Given the description of an element on the screen output the (x, y) to click on. 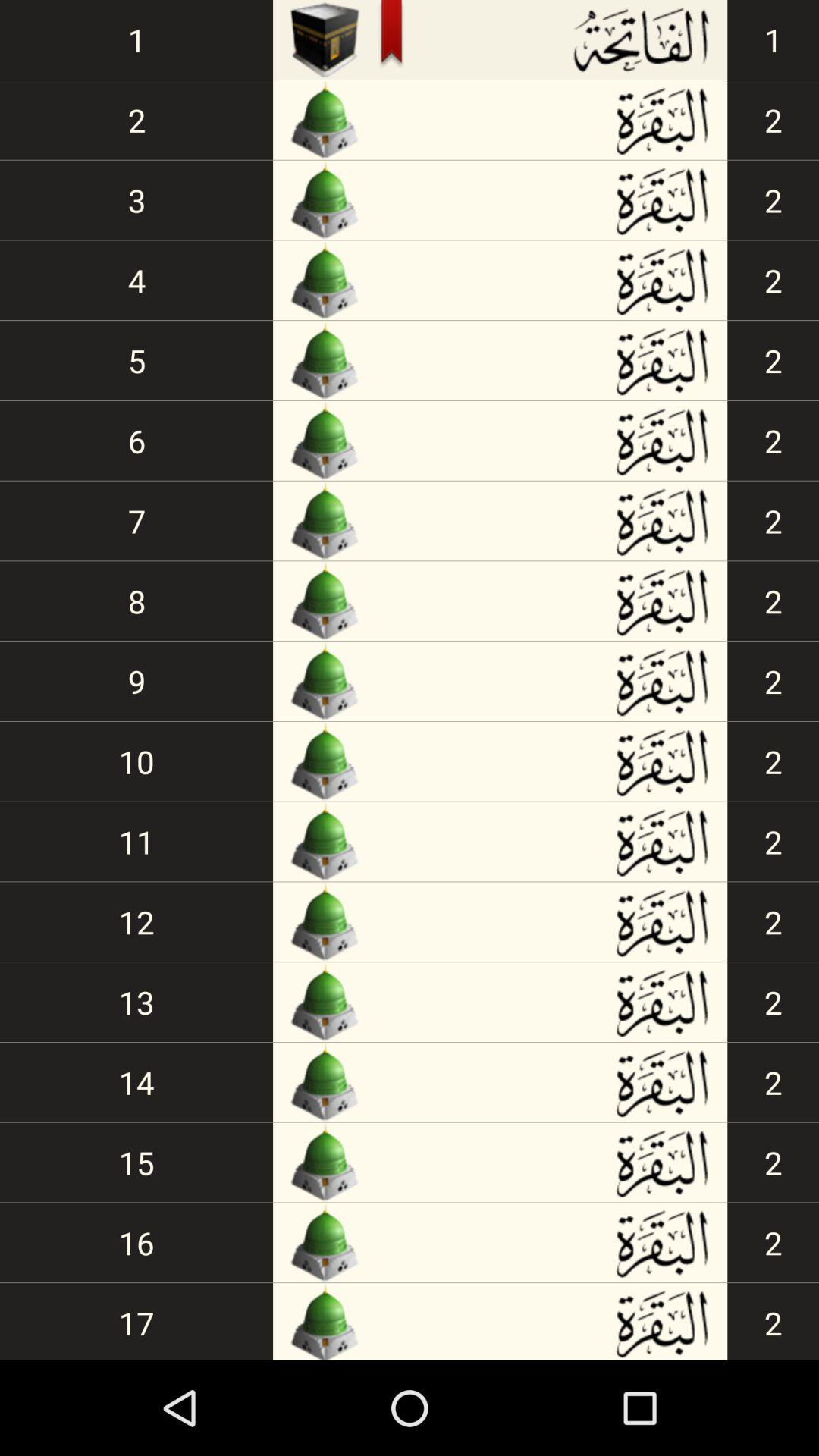
launch icon below the 8 item (136, 681)
